Given the description of an element on the screen output the (x, y) to click on. 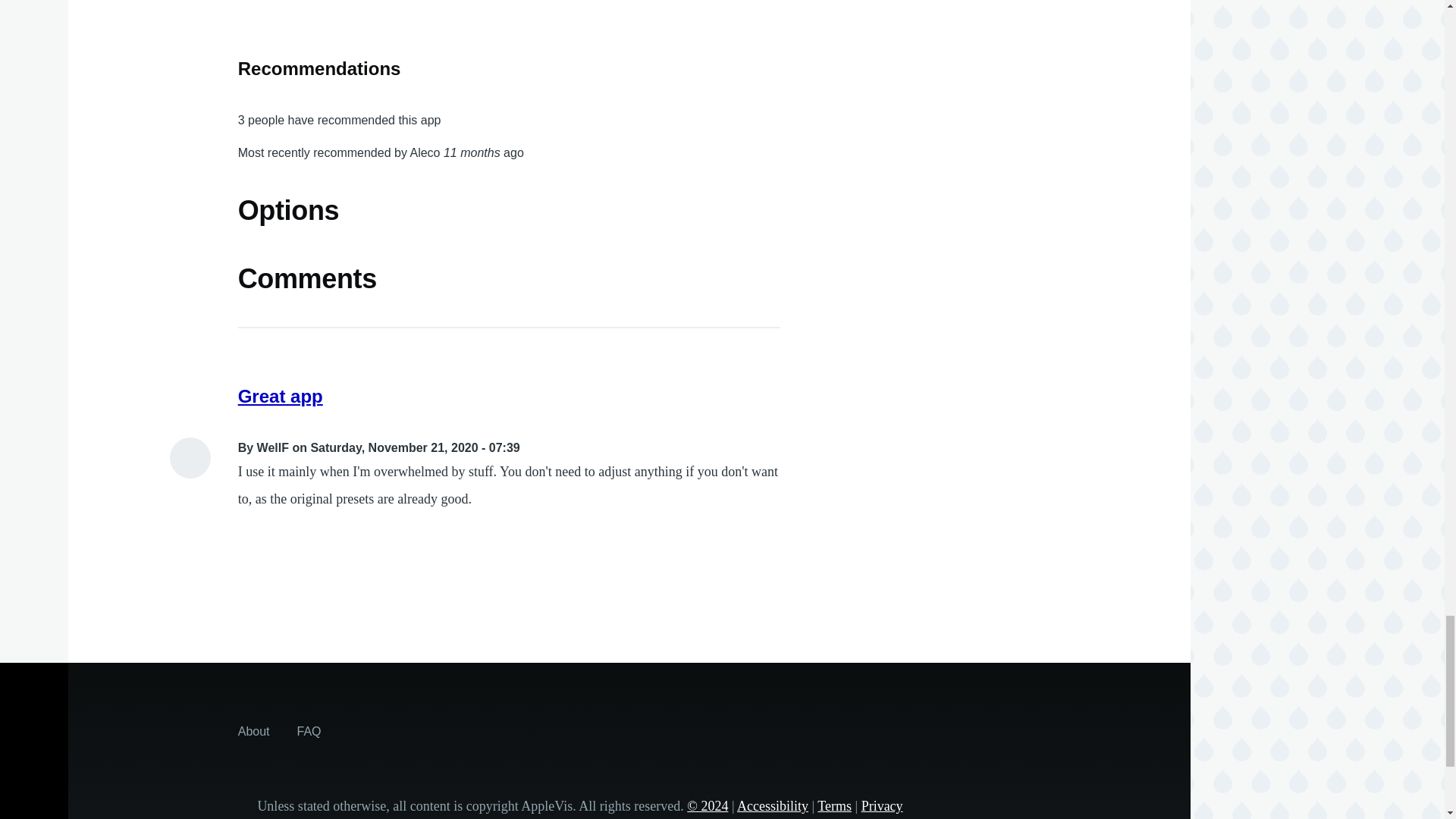
Great app (280, 395)
Privacy (881, 806)
Accessibility (772, 806)
Terms (833, 806)
About (253, 730)
About (253, 730)
